Given the description of an element on the screen output the (x, y) to click on. 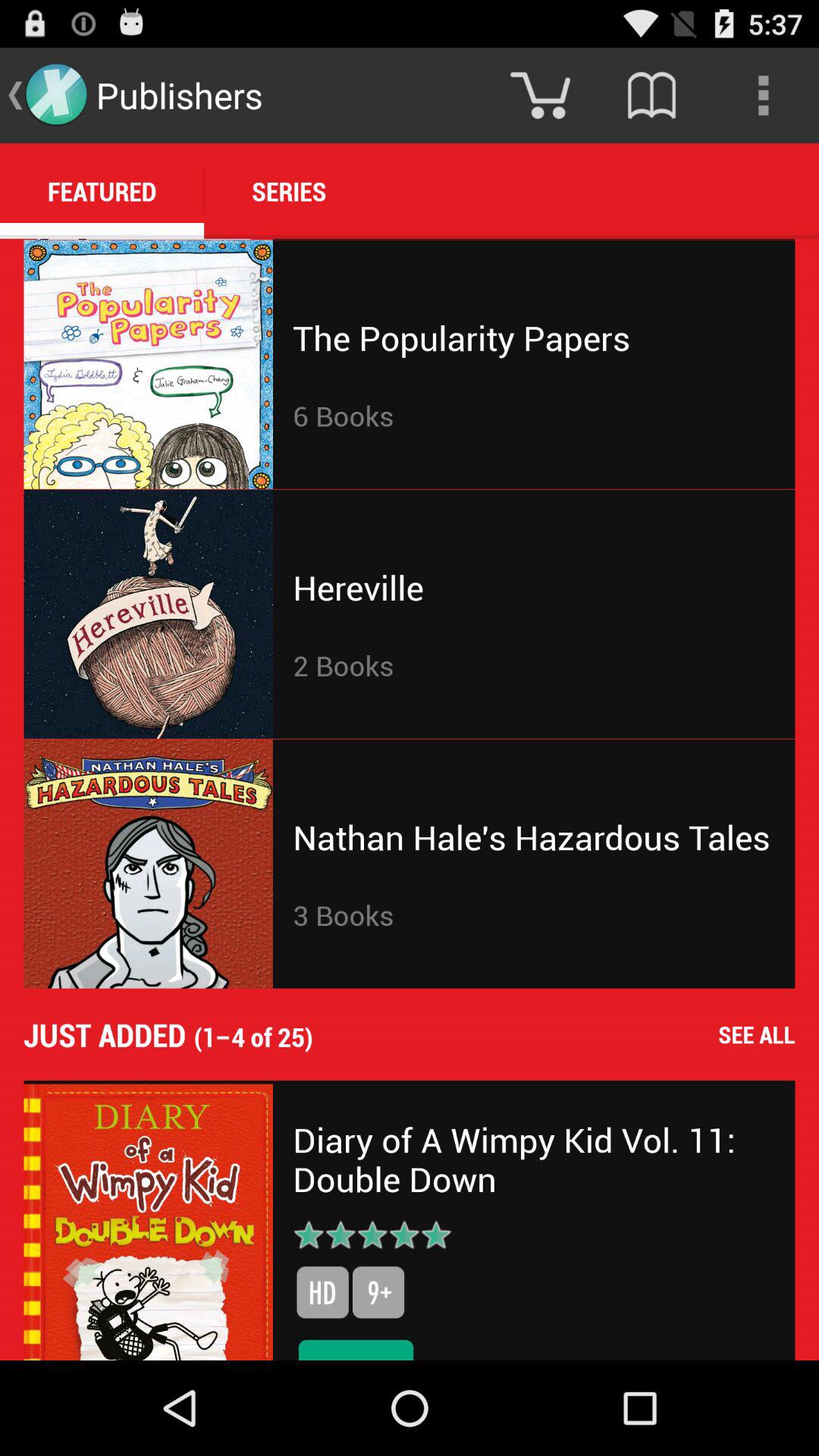
click item above $7.99 (378, 1292)
